Given the description of an element on the screen output the (x, y) to click on. 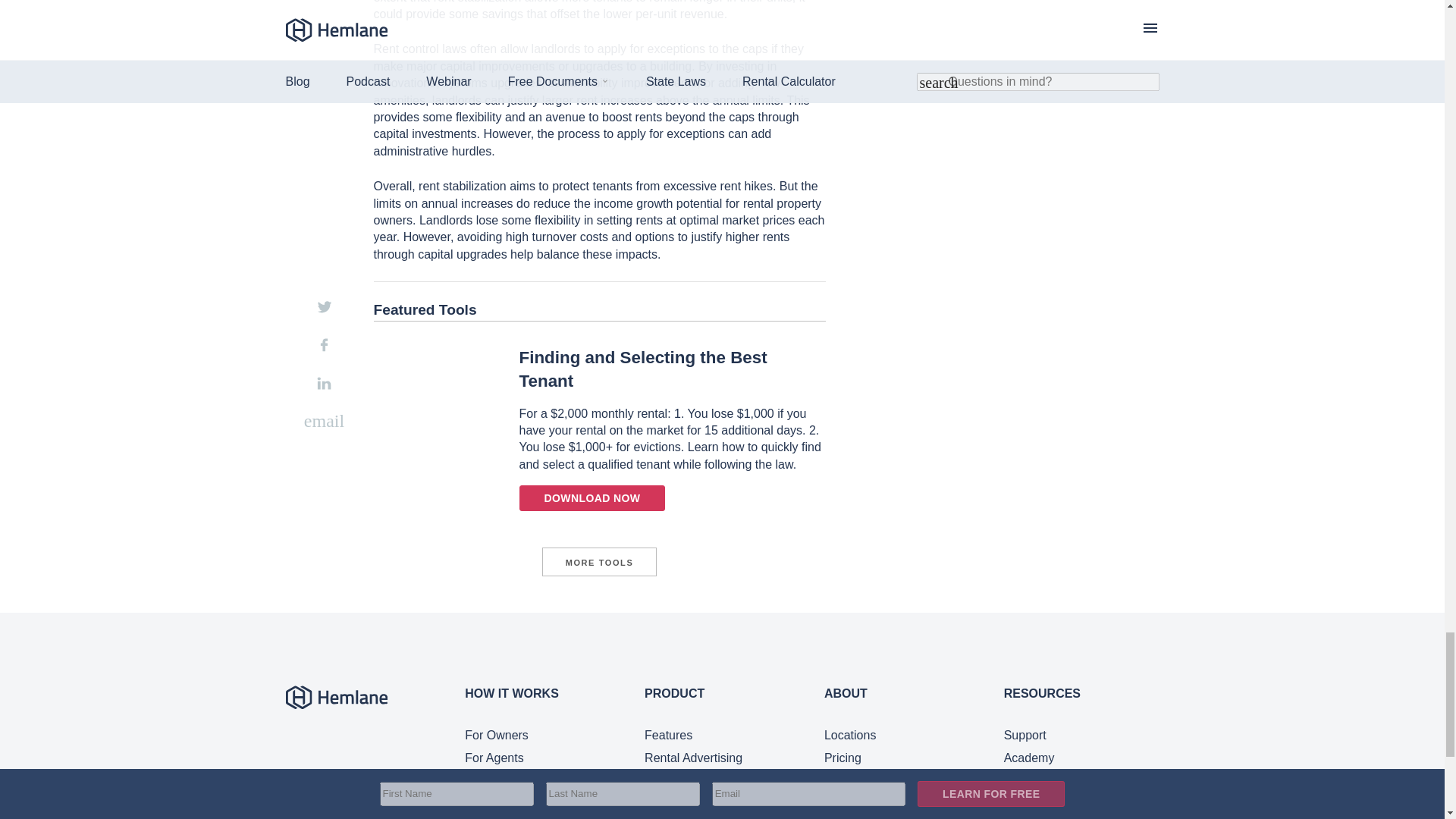
For Managers (502, 780)
For Owners (496, 735)
Rental Advertising (693, 757)
Features (669, 735)
MORE TOOLS (599, 561)
DOWNLOAD NOW (591, 498)
Applicant Tracking (694, 780)
For Agents (493, 757)
For Tenants (496, 803)
